Given the description of an element on the screen output the (x, y) to click on. 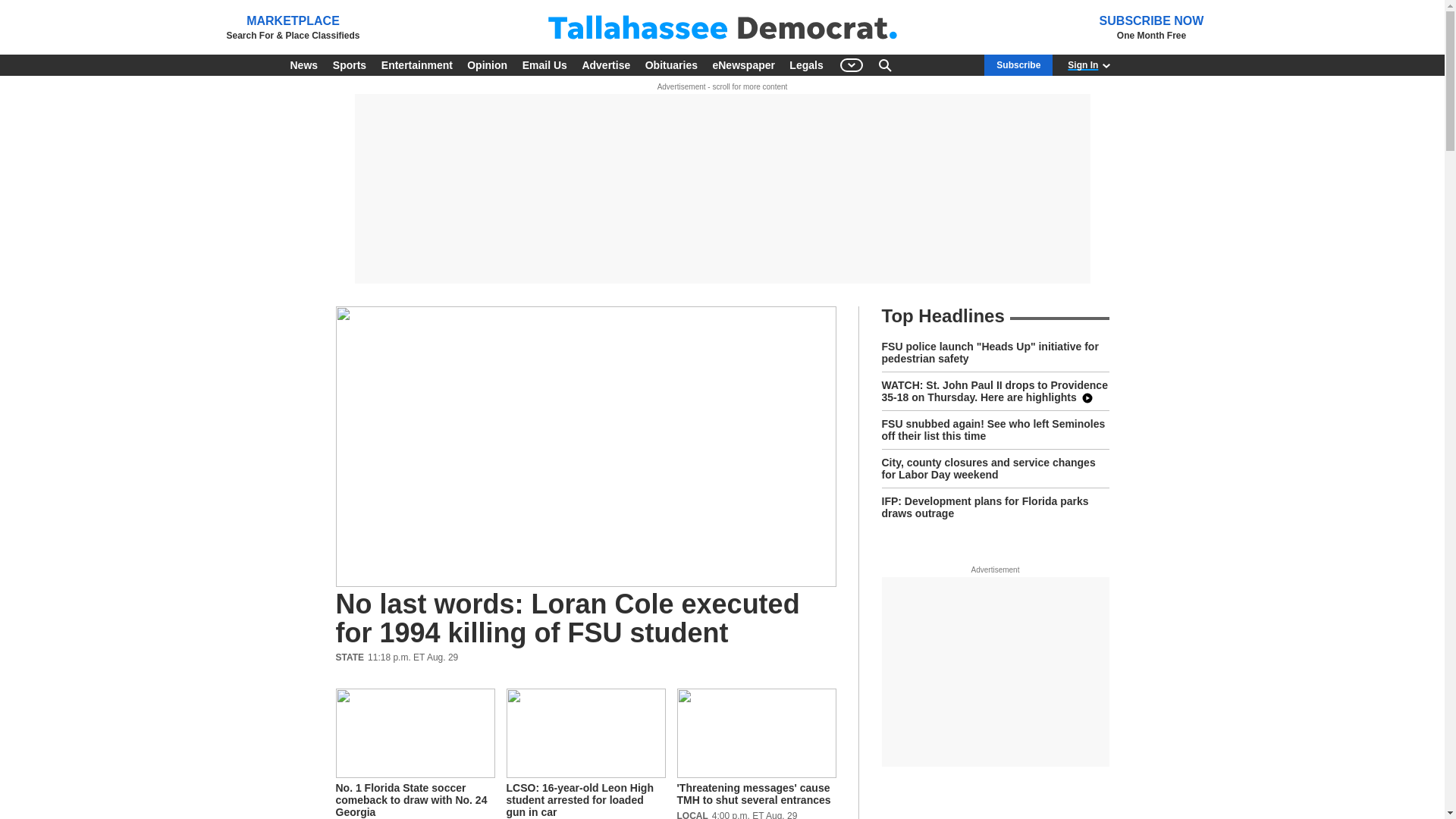
Obituaries (670, 65)
eNewspaper (742, 65)
Legals (805, 65)
Advertise (605, 65)
Email Us (545, 65)
Opinion (486, 65)
Search (885, 65)
Entertainment (417, 65)
